Given the description of an element on the screen output the (x, y) to click on. 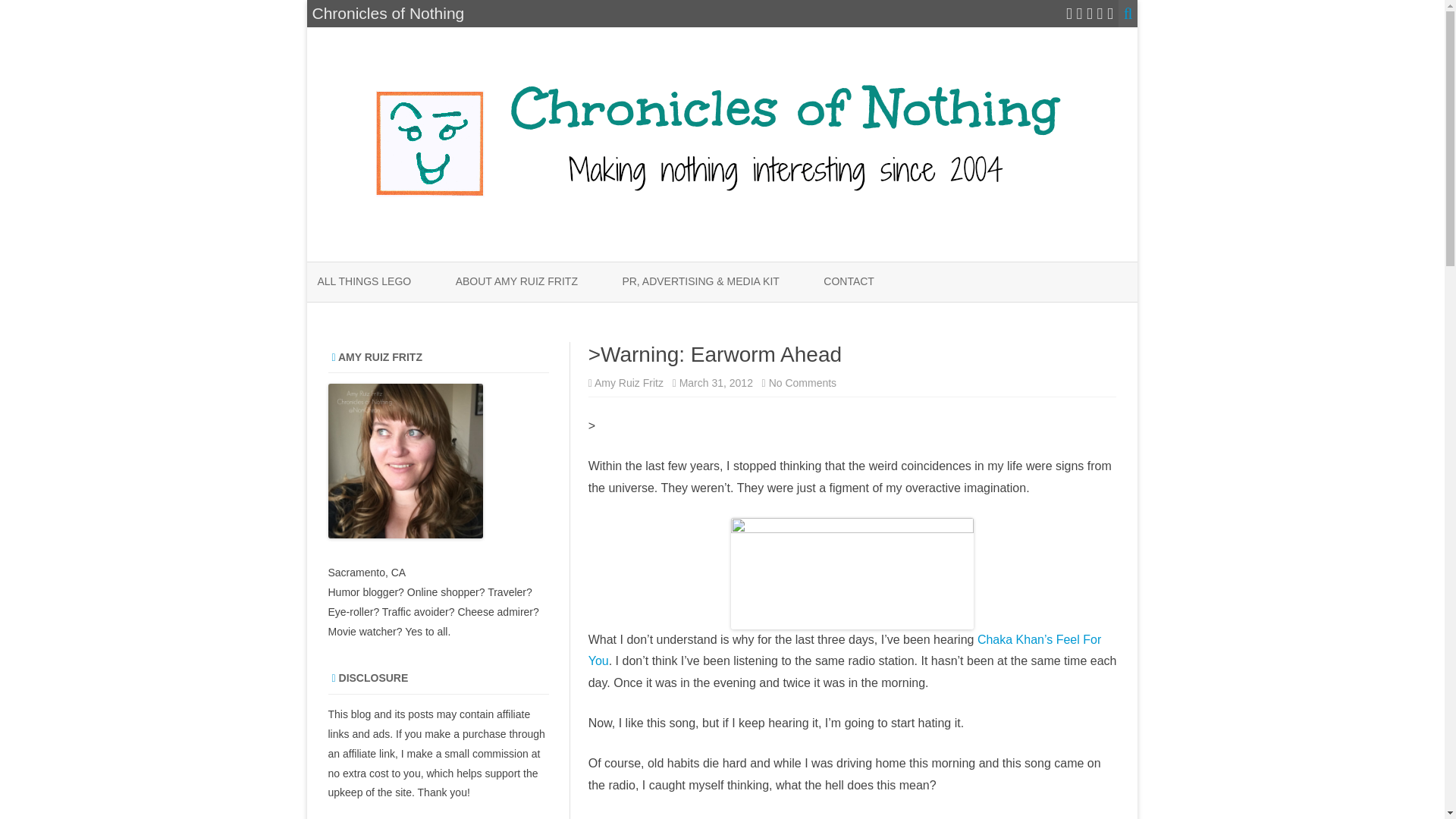
Amy Ruiz Fritz (628, 382)
ABOUT AMY RUIZ FRITZ (516, 282)
CONTACT (849, 282)
ALL THINGS LEGO (363, 282)
